Given the description of an element on the screen output the (x, y) to click on. 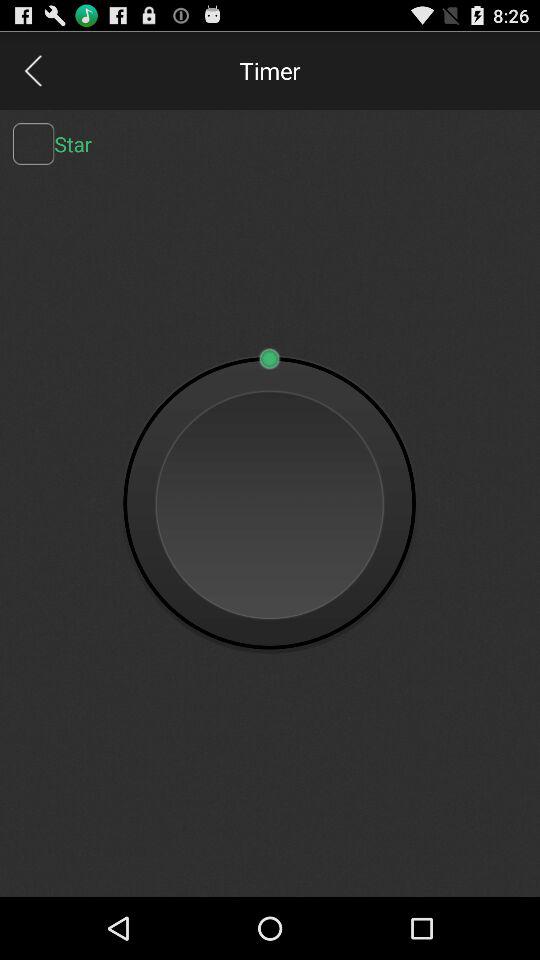
go back (32, 70)
